Given the description of an element on the screen output the (x, y) to click on. 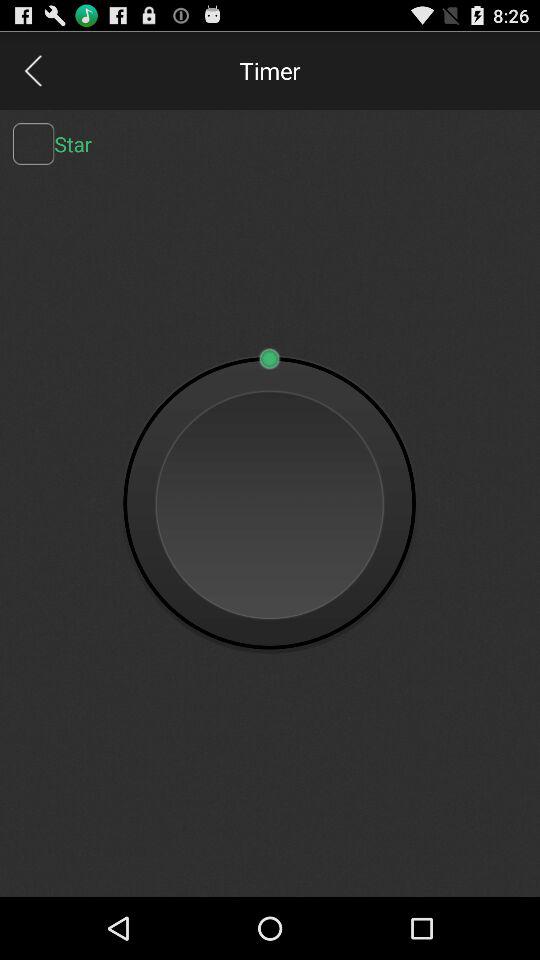
go back (32, 70)
